Given the description of an element on the screen output the (x, y) to click on. 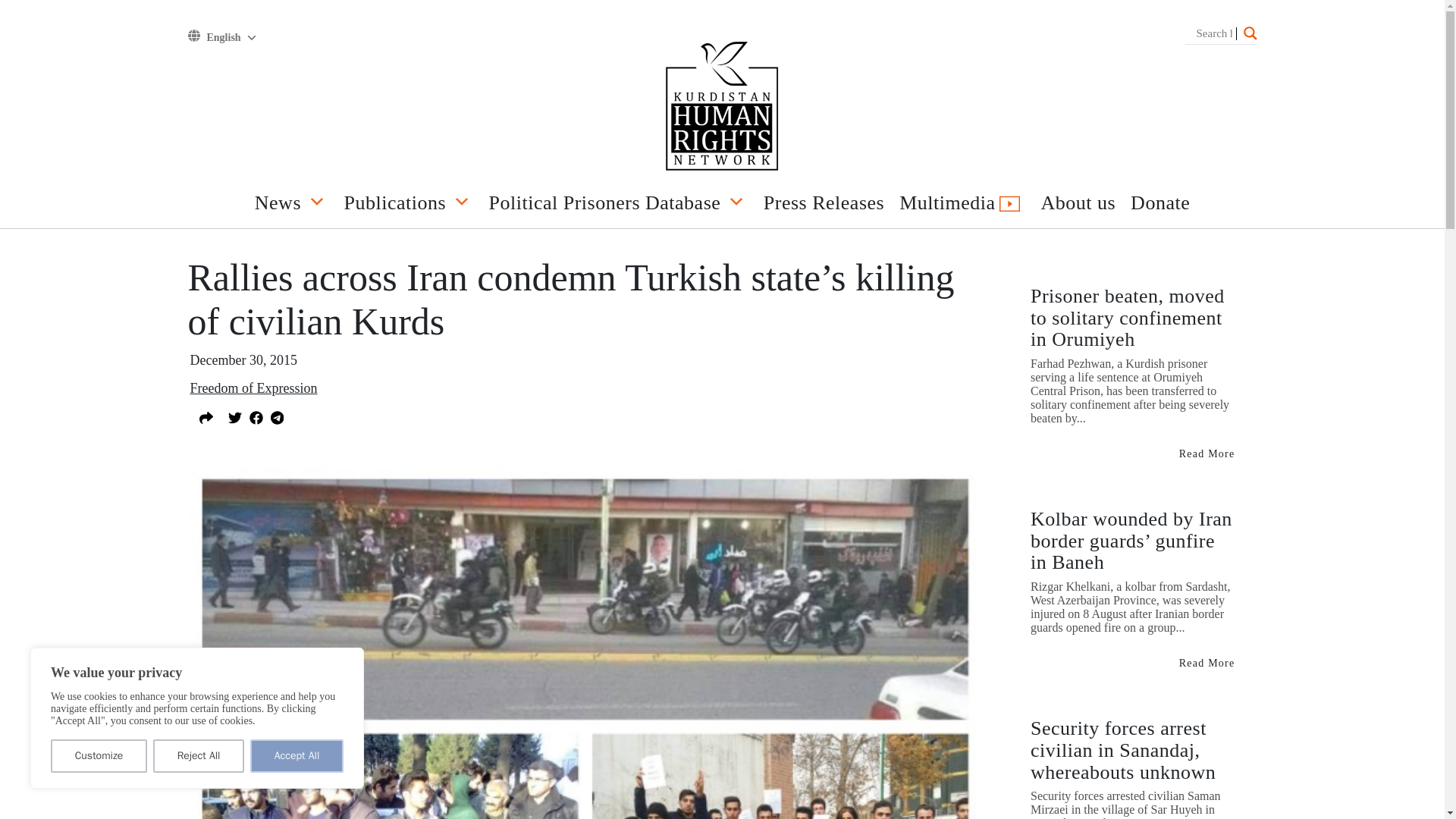
Reject All (198, 756)
English (231, 37)
KHRN (721, 107)
Twitter (234, 416)
Customize (98, 756)
Prisoner beaten, moved to solitary confinement in Orumiyeh (1206, 453)
Accept All (296, 756)
facebook (255, 416)
News (291, 206)
